Given the description of an element on the screen output the (x, y) to click on. 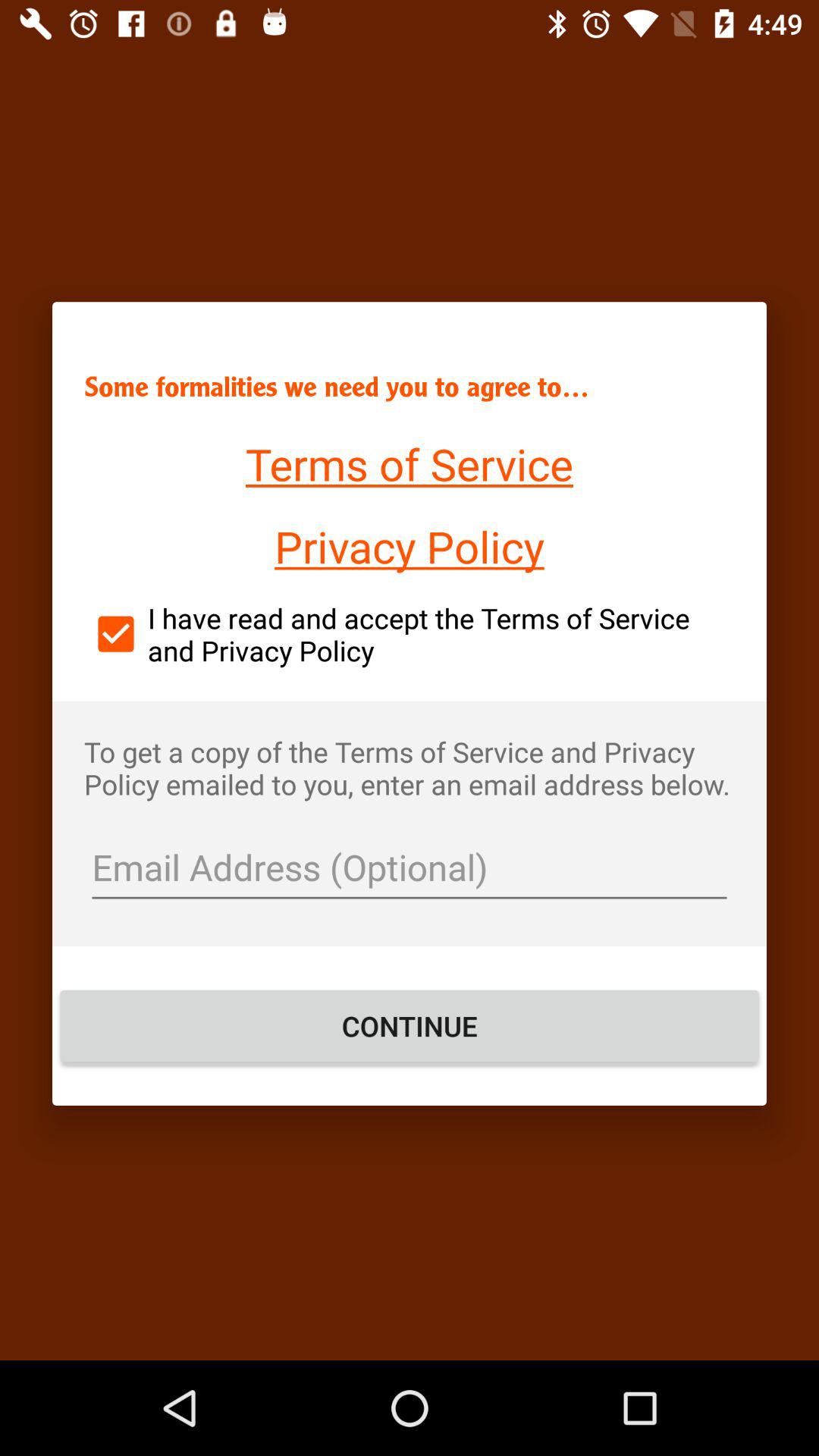
choose the icon below privacy policy icon (409, 634)
